Given the description of an element on the screen output the (x, y) to click on. 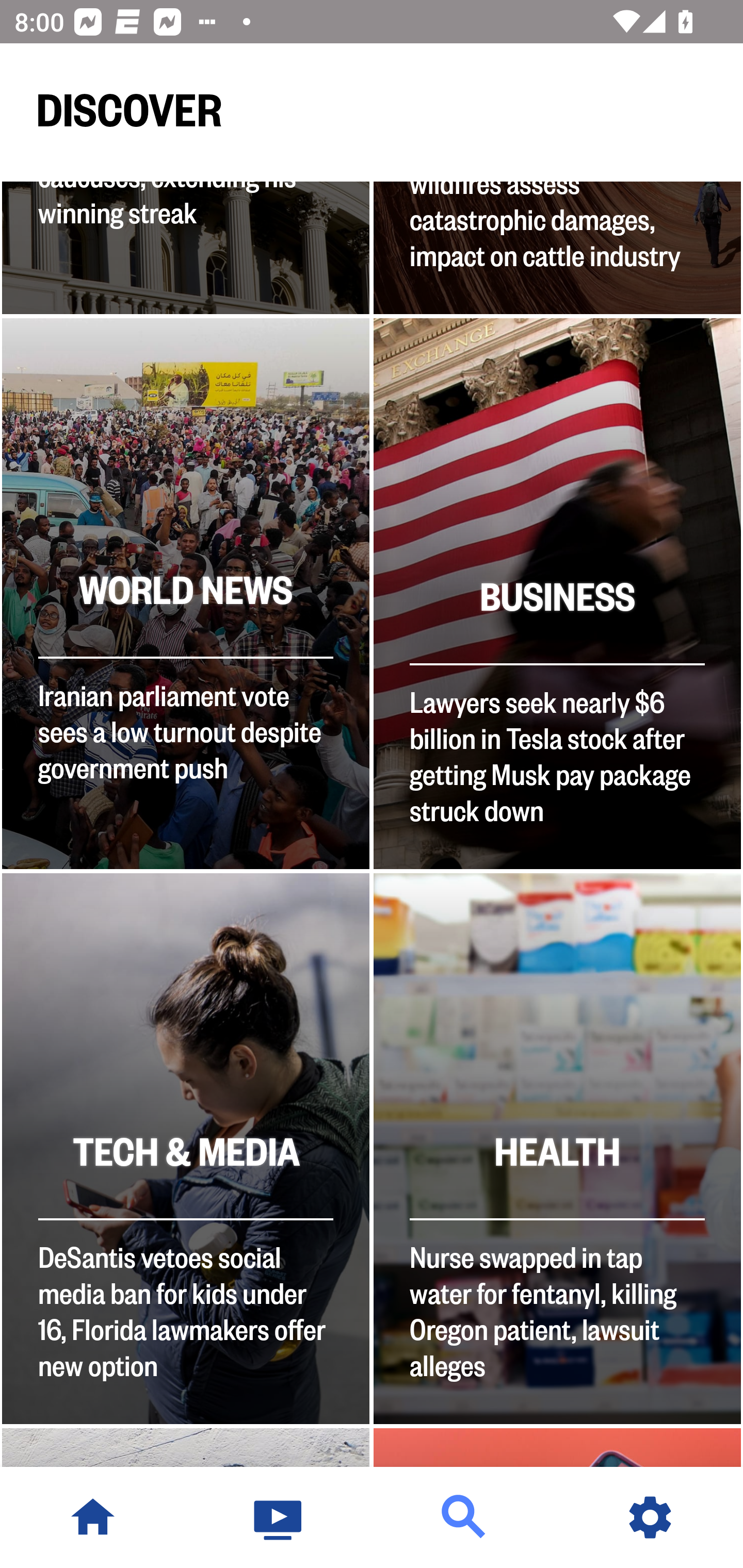
NBC News Home (92, 1517)
Watch (278, 1517)
Settings (650, 1517)
